Given the description of an element on the screen output the (x, y) to click on. 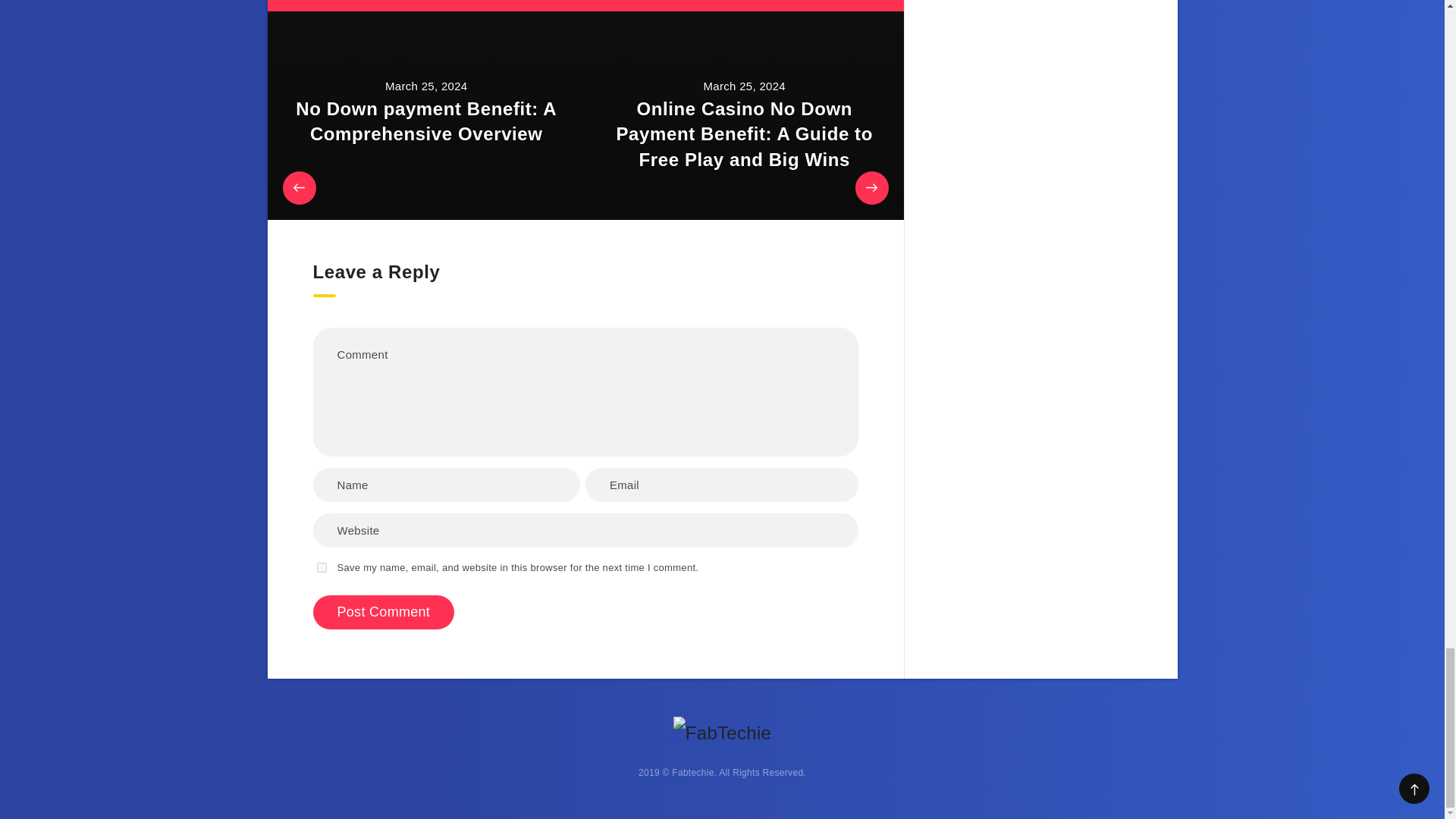
Post Comment (383, 612)
yes (321, 567)
Post Comment (383, 612)
